Given the description of an element on the screen output the (x, y) to click on. 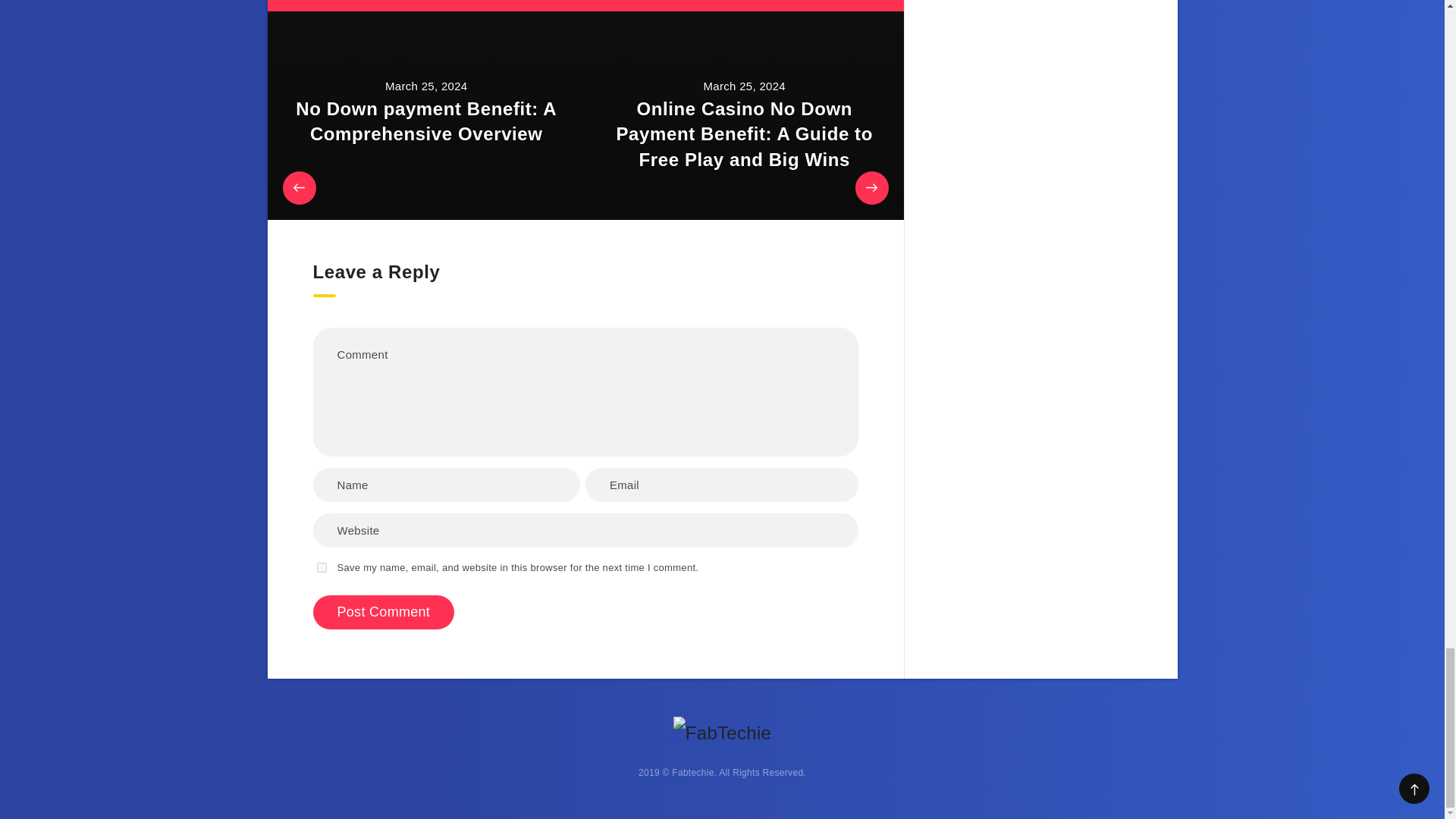
Post Comment (383, 612)
yes (321, 567)
Post Comment (383, 612)
